Given the description of an element on the screen output the (x, y) to click on. 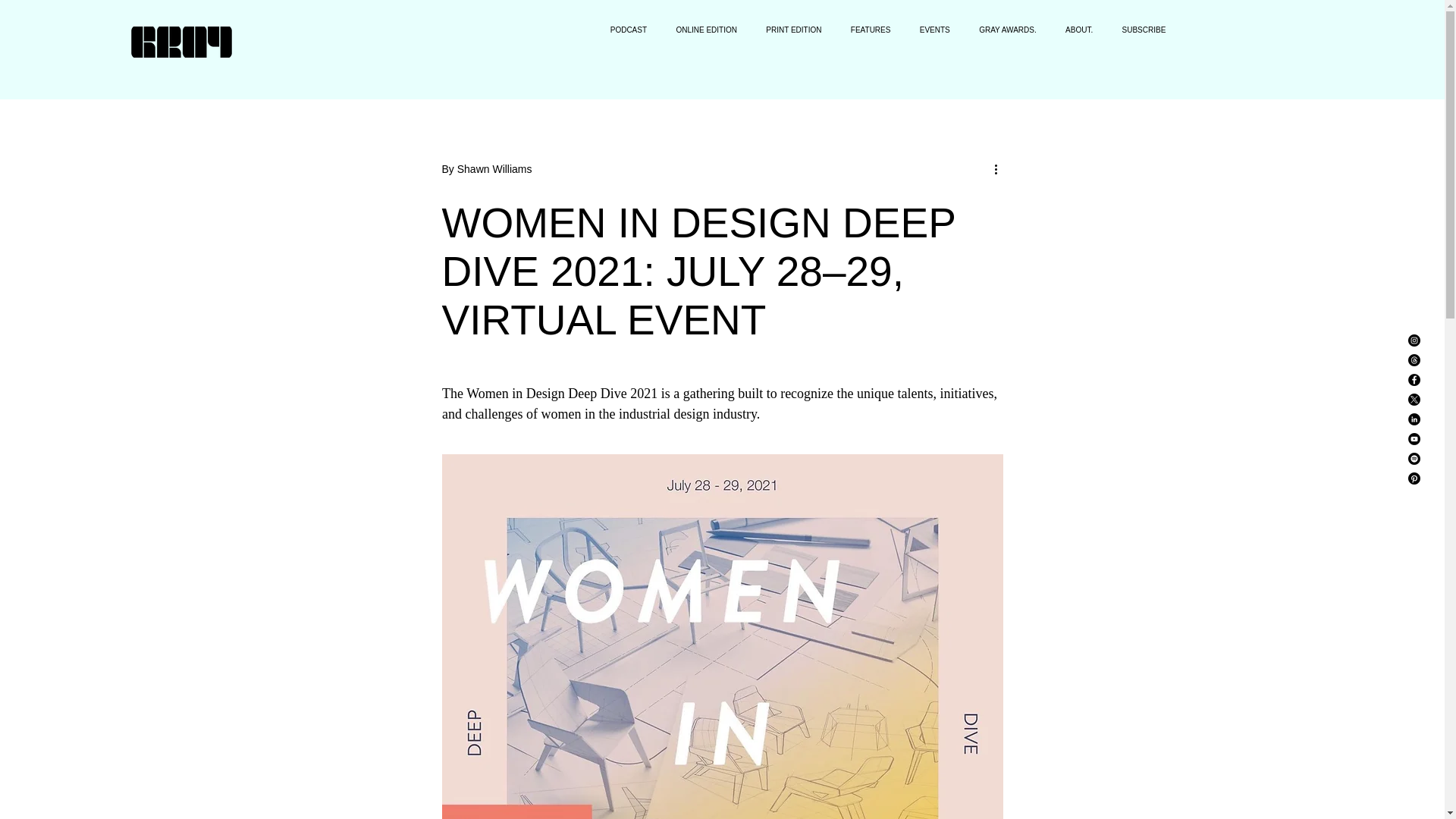
By Shawn Williams (486, 168)
GRAY AWARDS. (1003, 29)
PODCAST (623, 29)
By Shawn Williams (486, 168)
